Given the description of an element on the screen output the (x, y) to click on. 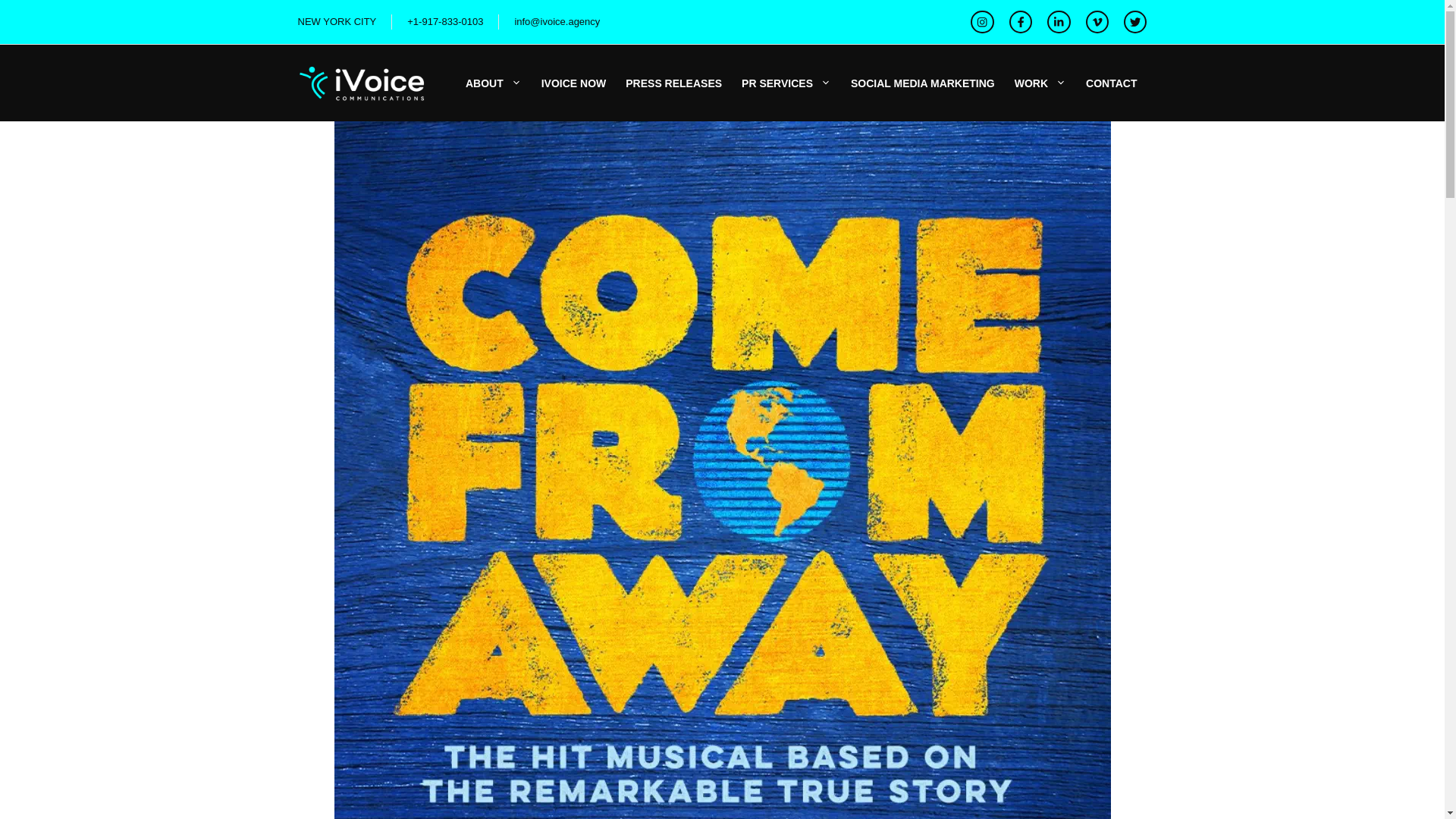
PRESS RELEASES (673, 83)
ABOUT (493, 83)
IVOICE NOW (573, 83)
CONTACT (1111, 83)
WORK (1039, 83)
PR SERVICES (786, 83)
SOCIAL MEDIA MARKETING (922, 83)
